Given the description of an element on the screen output the (x, y) to click on. 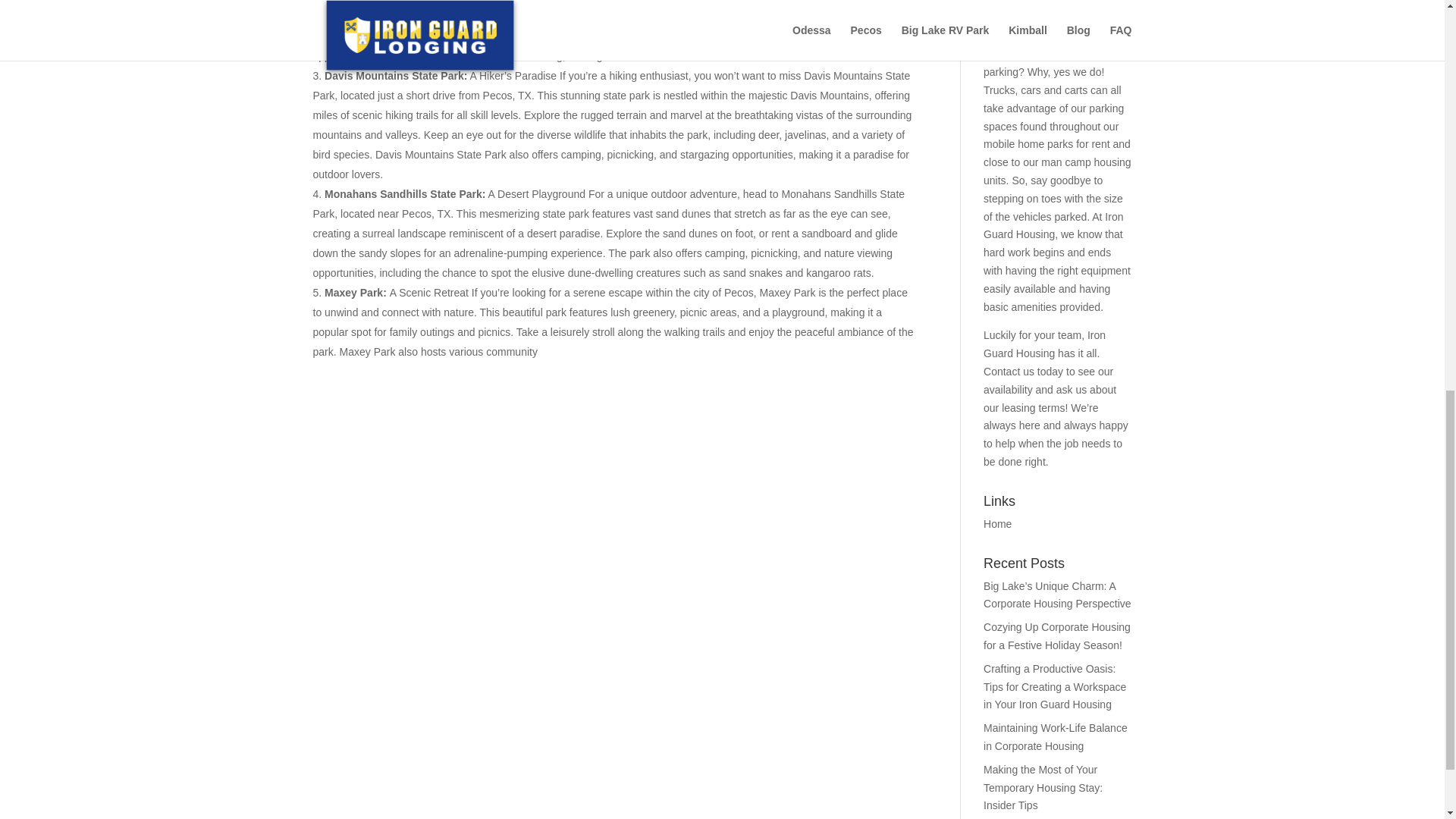
Maintaining Work-Life Balance in Corporate Housing (1055, 736)
Home (997, 523)
Cozying Up Corporate Housing for a Festive Holiday Season! (1057, 635)
Making the Most of Your Temporary Housing Stay: Insider Tips (1043, 787)
